Given the description of an element on the screen output the (x, y) to click on. 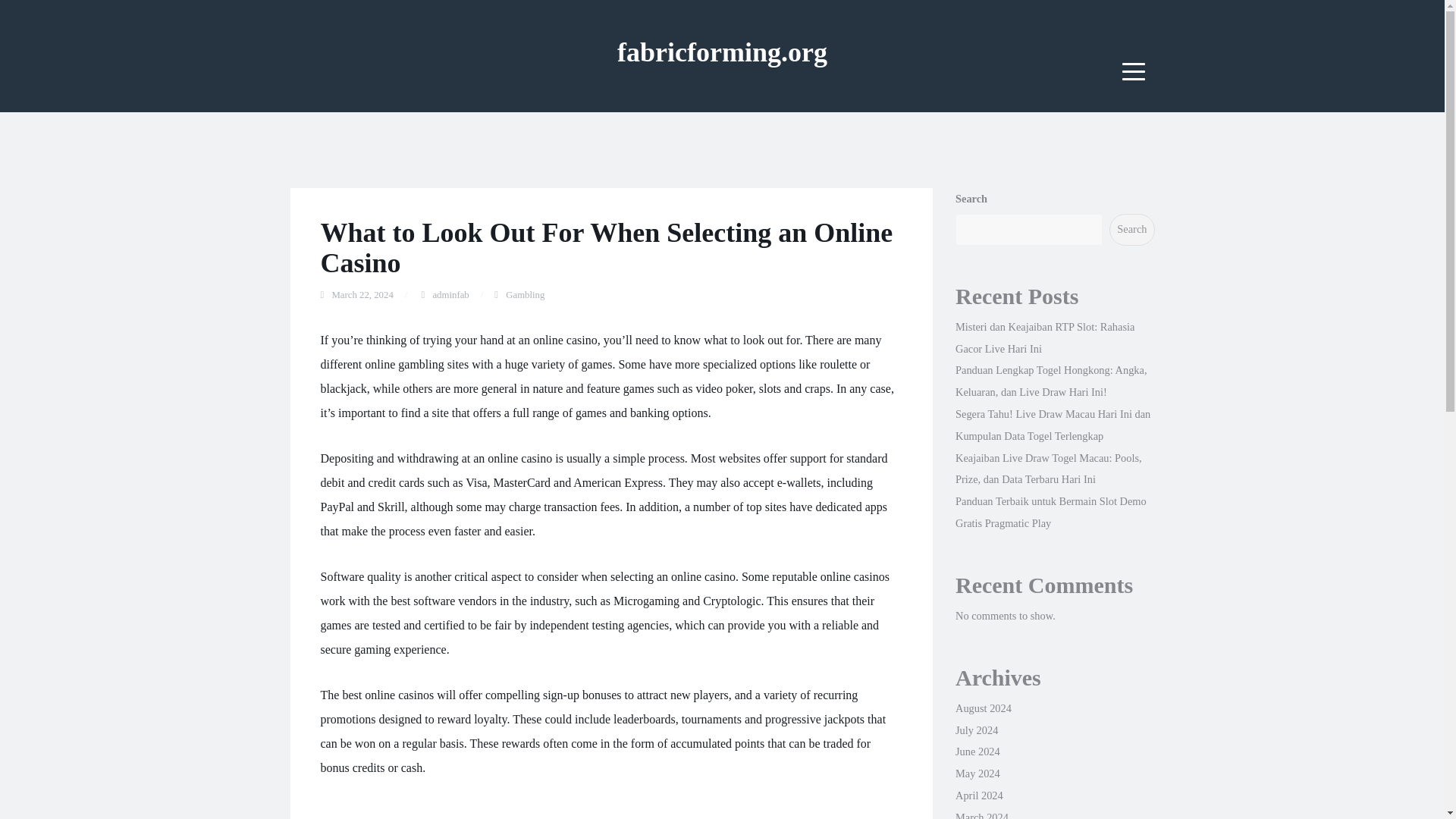
Misteri dan Keajaiban RTP Slot: Rahasia Gacor Live Hari Ini (1044, 337)
fabricforming.org (722, 51)
June 2024 (977, 751)
March 2024 (982, 815)
Menu (1133, 71)
April 2024 (979, 795)
Gambling (524, 294)
August 2024 (983, 707)
